Given the description of an element on the screen output the (x, y) to click on. 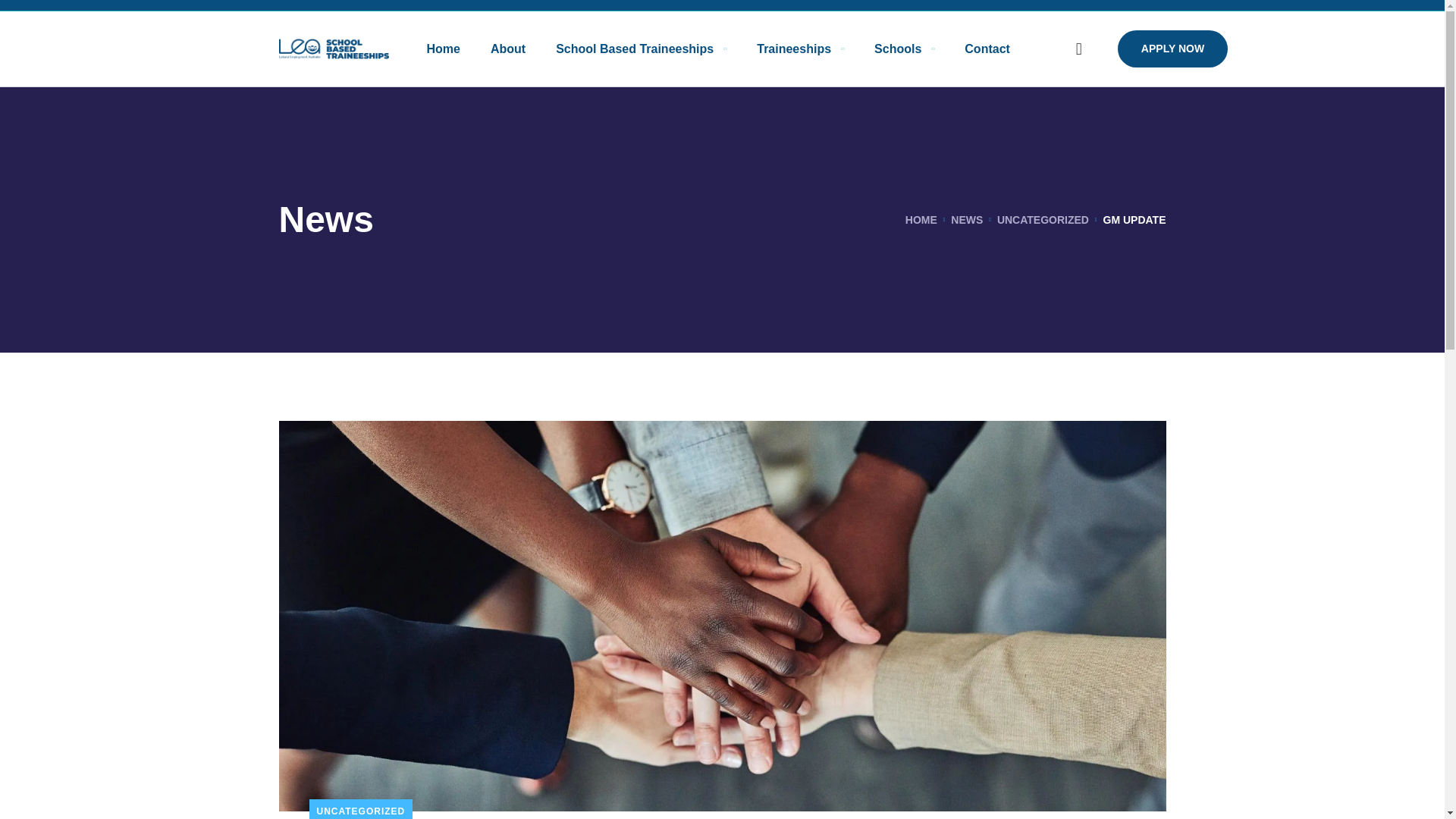
NEWS (966, 219)
UNCATEGORIZED (360, 809)
APPLY NOW (1172, 48)
HOME (921, 219)
UNCATEGORIZED (1043, 219)
Traineeships (800, 48)
School Based Traineeships (641, 48)
